Given the description of an element on the screen output the (x, y) to click on. 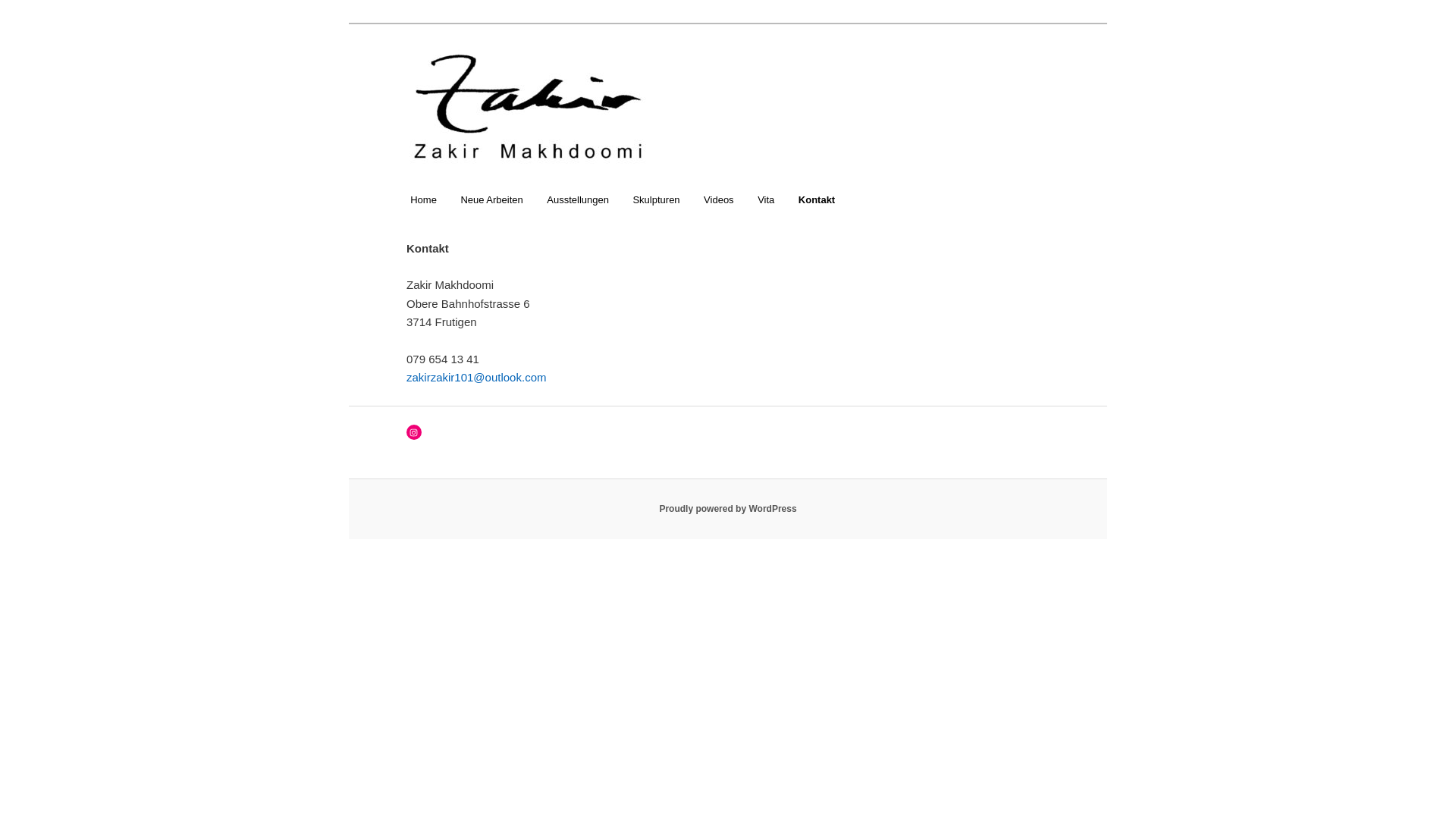
Skulpturen Element type: text (656, 199)
Zum Inhalt wechseln Element type: text (22, 22)
Vita Element type: text (765, 199)
Videos Element type: text (718, 199)
zakirzakir101@outlook.com Element type: text (476, 376)
Proudly powered by WordPress Element type: text (727, 508)
Home Element type: text (423, 199)
Bildhauer Zakir Makhdoomi Element type: text (555, 78)
Kontakt Element type: text (816, 199)
Instagram Element type: text (413, 431)
Ausstellungen Element type: text (578, 199)
Neue Arbeiten Element type: text (491, 199)
